Given the description of an element on the screen output the (x, y) to click on. 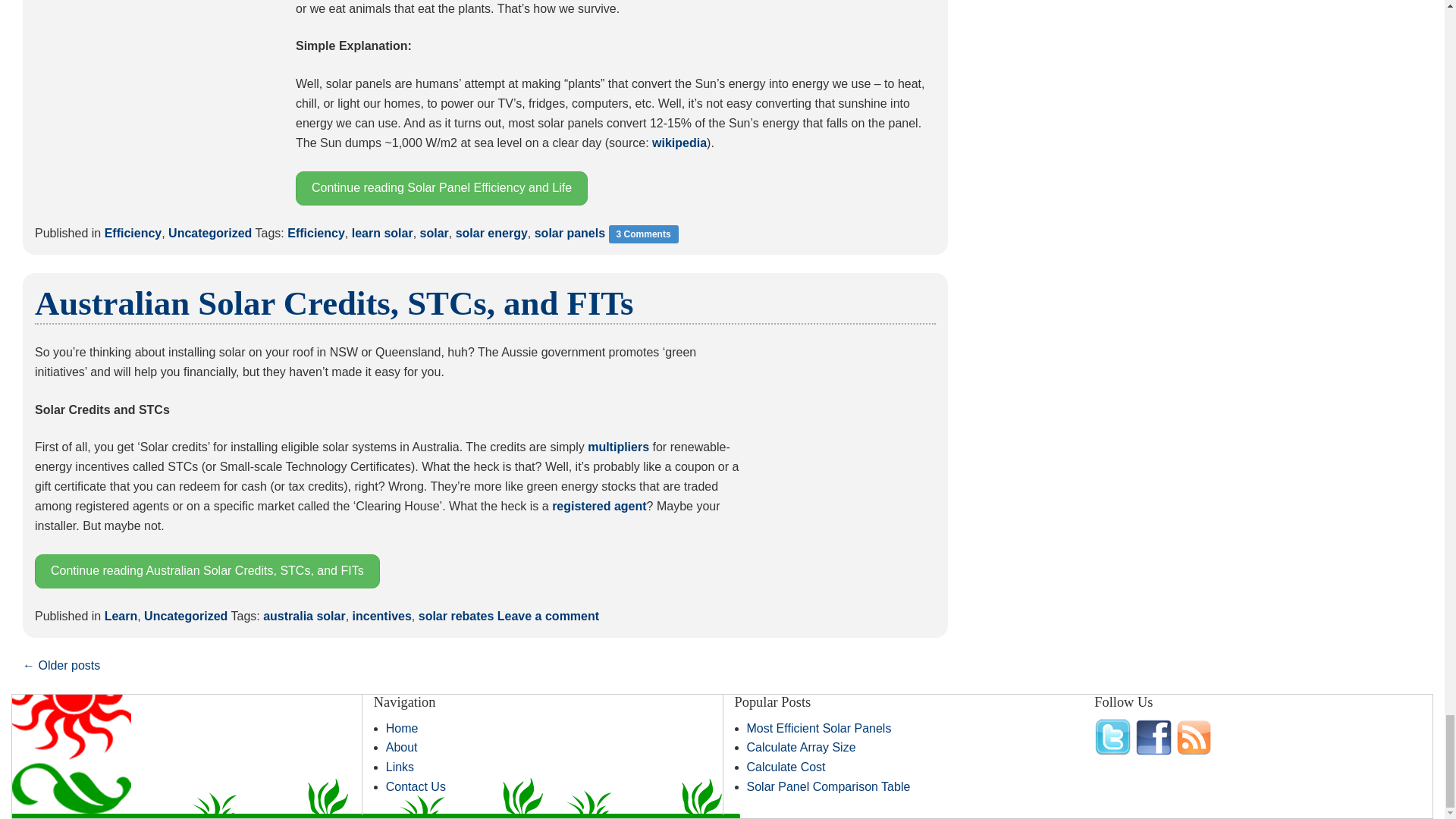
Solar Flower of Life (156, 101)
List of Registered Agents in Australia (598, 505)
Solar Australia Map (850, 428)
Australia Renewable Power Incentives (618, 446)
Wiki: solar insolation (679, 142)
